Given the description of an element on the screen output the (x, y) to click on. 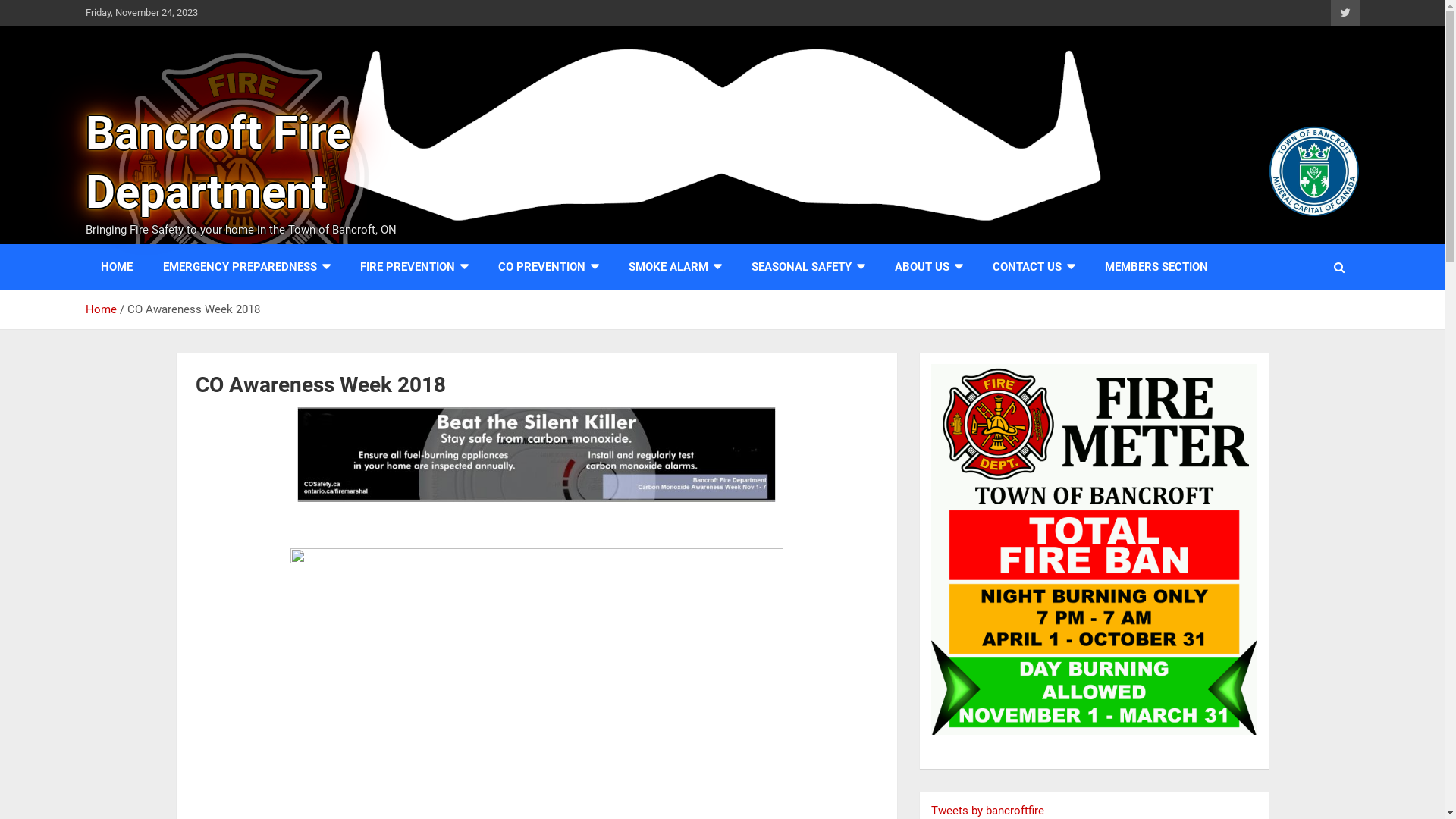
HOME Element type: text (115, 267)
CONTACT US Element type: text (1032, 267)
Home Element type: text (100, 309)
FIRE PREVENTION Element type: text (413, 267)
ABOUT US Element type: text (928, 267)
CO PREVENTION Element type: text (547, 267)
MEMBERS SECTION Element type: text (1155, 267)
EMERGENCY PREPAREDNESS Element type: text (245, 267)
Tweets by bancroftfire Element type: text (987, 810)
SMOKE ALARM Element type: text (673, 267)
SEASONAL SAFETY Element type: text (806, 267)
Bancroft Fire Department Element type: text (216, 162)
